Given the description of an element on the screen output the (x, y) to click on. 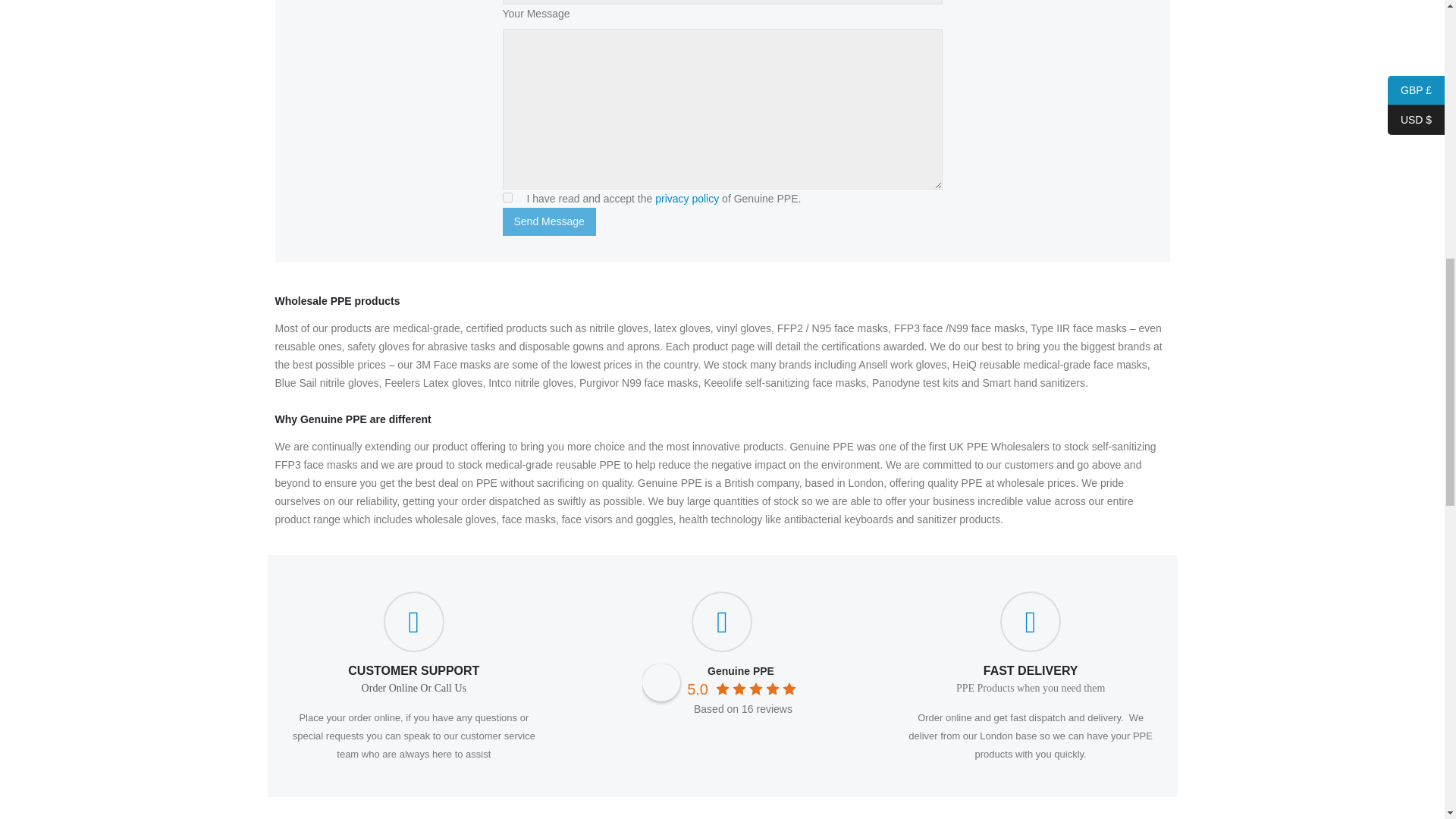
Send Message (548, 221)
privacy policy (687, 198)
Send Message (548, 221)
Genuine PPE (740, 671)
Genuine PPE (660, 682)
